Given the description of an element on the screen output the (x, y) to click on. 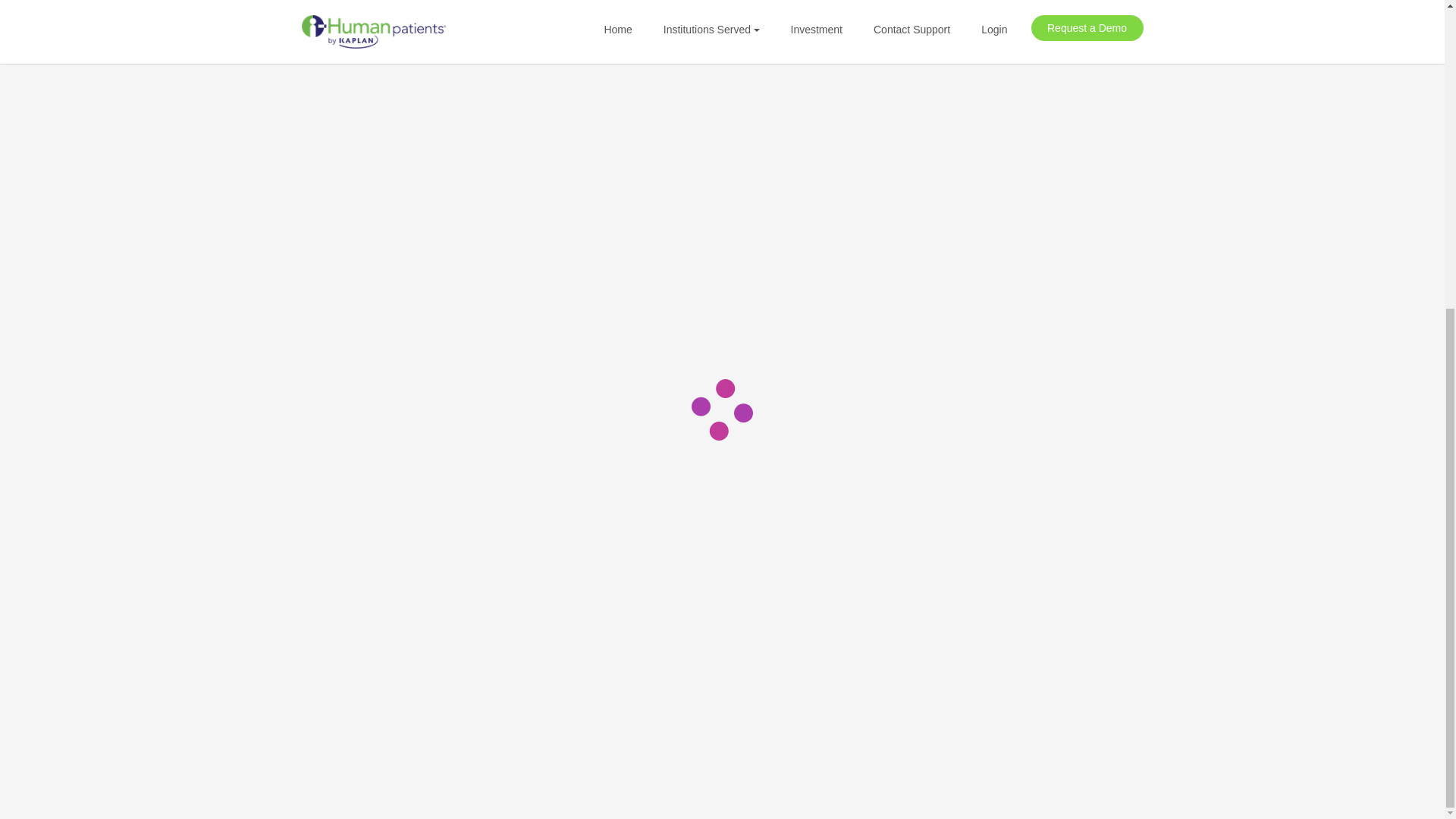
Privacy Policy (987, 574)
Service Agreement (1000, 548)
Kaplan (316, 702)
Request a Demo (850, 574)
Support (826, 599)
Security Statement (1000, 625)
Home (821, 548)
Do Not Sell or Share My Data (1029, 599)
